Given the description of an element on the screen output the (x, y) to click on. 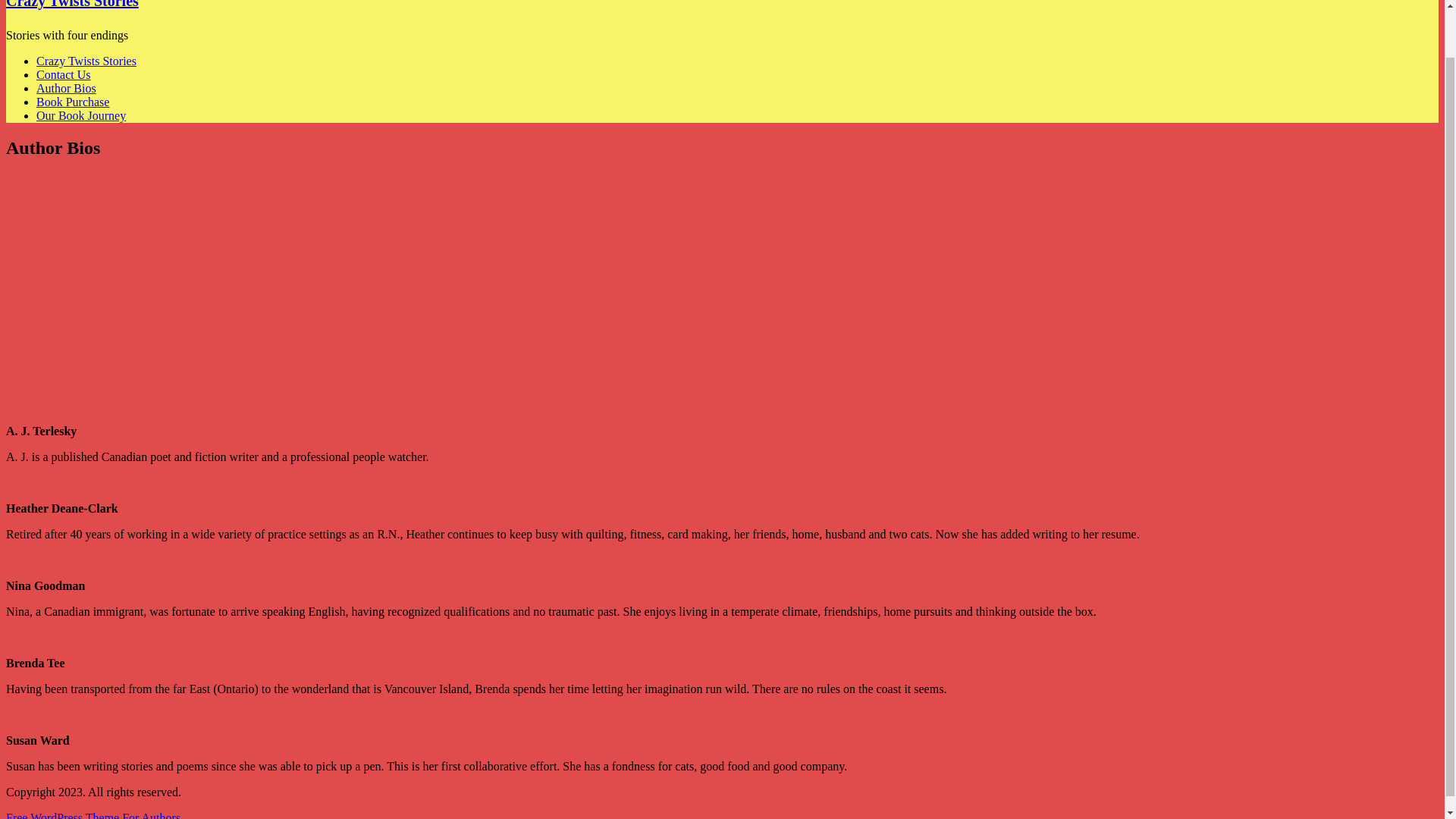
Author Bios (66, 88)
Our Book Journey (80, 115)
Crazy Twists Stories (71, 4)
Book Purchase (72, 101)
Contact Us (63, 74)
Crazy Twists Stories (86, 60)
